Given the description of an element on the screen output the (x, y) to click on. 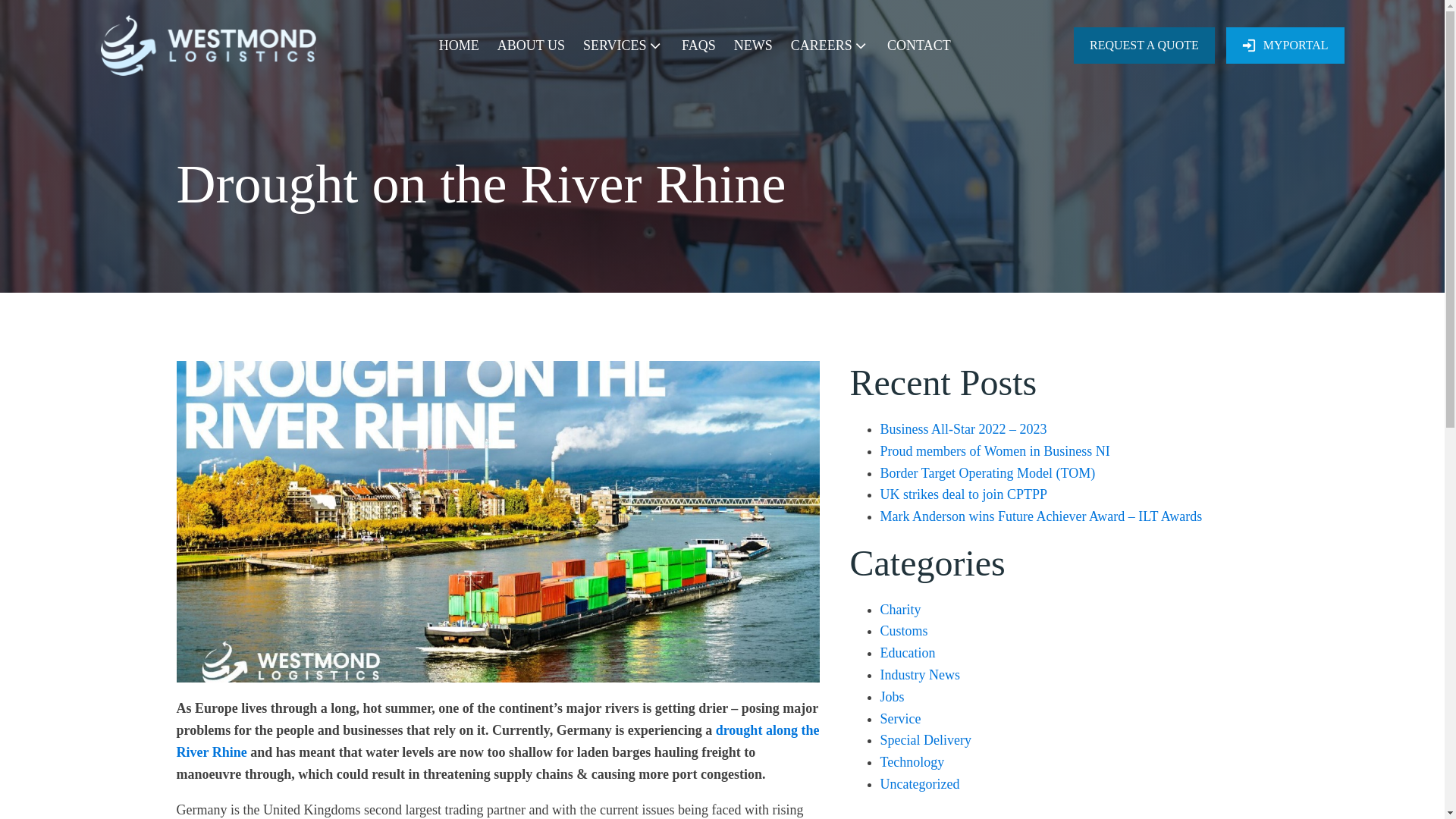
Charity (899, 609)
REQUEST A QUOTE (1144, 45)
FAQS (698, 45)
Customs (903, 630)
HOME (459, 45)
drought along the River Rhine (497, 741)
Service (899, 718)
ABOUT US (530, 45)
NEWS (753, 45)
Industry News (919, 674)
CAREERS (829, 45)
Jobs (891, 696)
Special Delivery (925, 739)
UK strikes deal to join CPTPP (962, 494)
Education (906, 652)
